Given the description of an element on the screen output the (x, y) to click on. 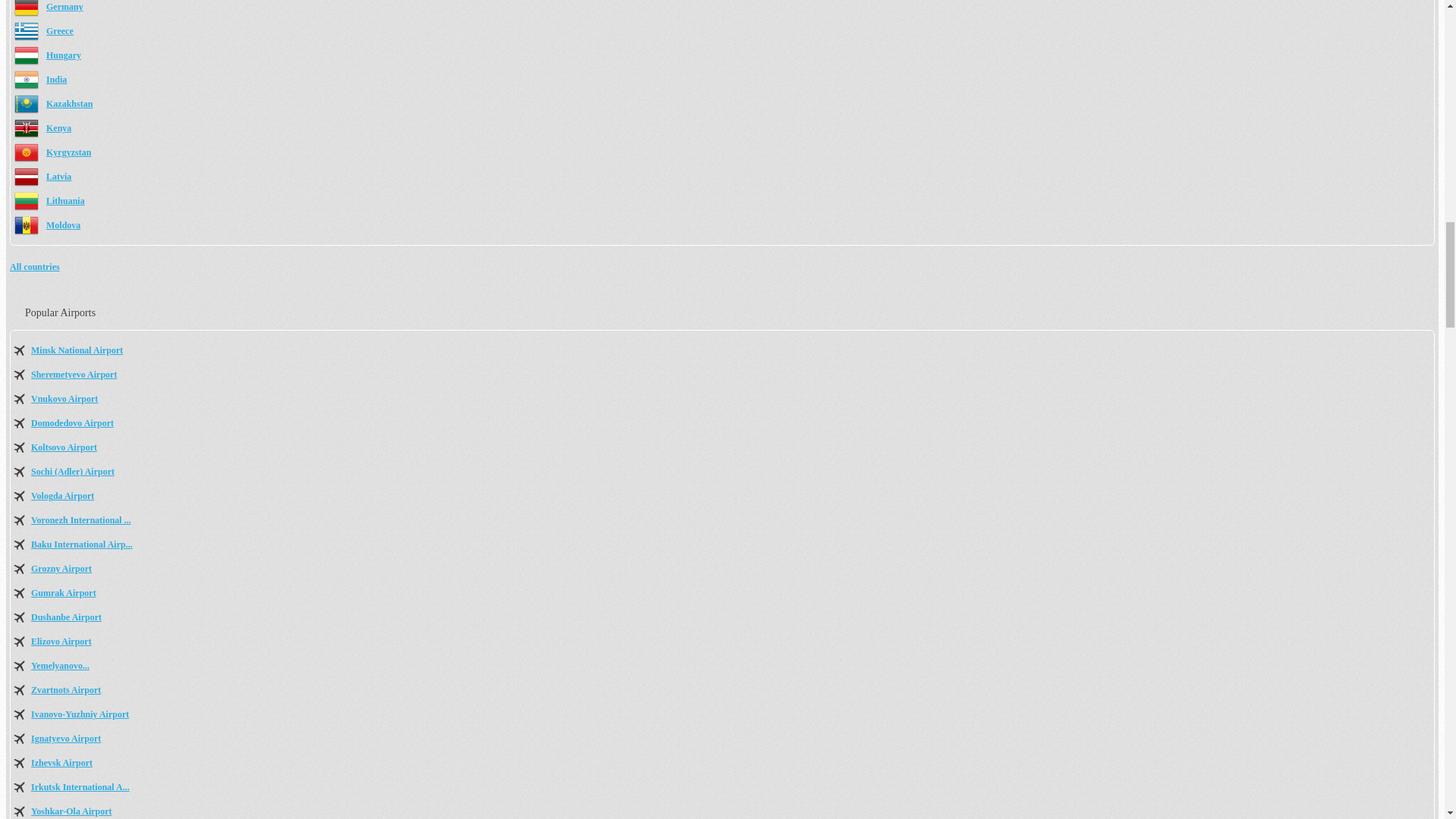
Transfer booking Germany (64, 6)
Germany (64, 6)
Transfer booking Hungary (63, 54)
Transfer booking Kazakhstan (69, 103)
Transfer booking Lithuania (65, 200)
Transfer booking Latvia (58, 176)
Transfer booking Greece (60, 30)
Transfer booking Kenya (58, 127)
Transfer booking India (56, 79)
Transfer booking Kyrgyzstan (68, 152)
